Given the description of an element on the screen output the (x, y) to click on. 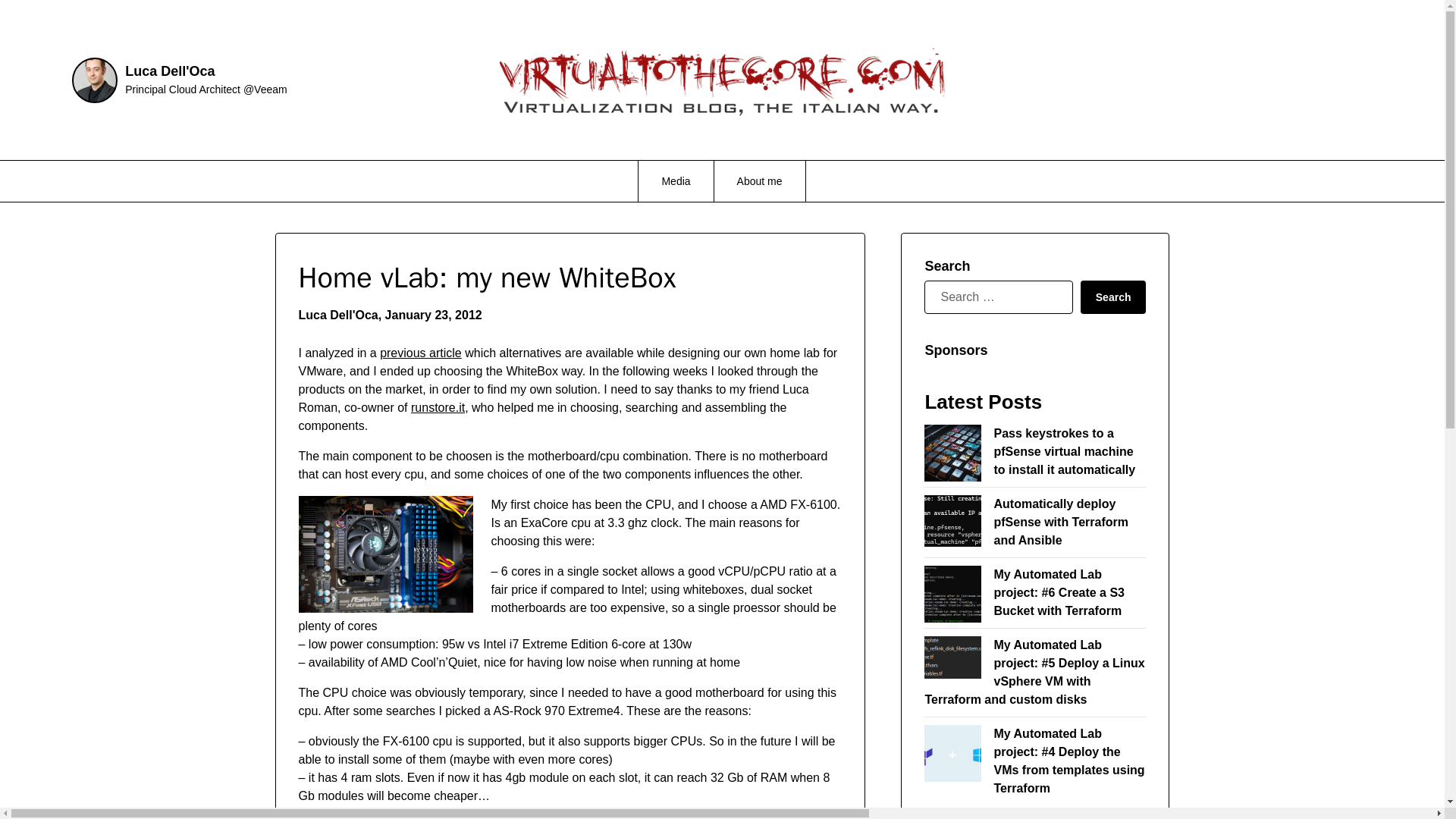
Search (1113, 296)
Search (1113, 296)
Search (1113, 296)
Automatically deploy pfSense with Terraform and Ansible (1060, 522)
IOMMU (433, 813)
previous article (420, 352)
Virtual To The Core (1202, 67)
January 23, 2012 (433, 314)
About me (759, 180)
Media (676, 180)
runstore.it (437, 407)
